Given the description of an element on the screen output the (x, y) to click on. 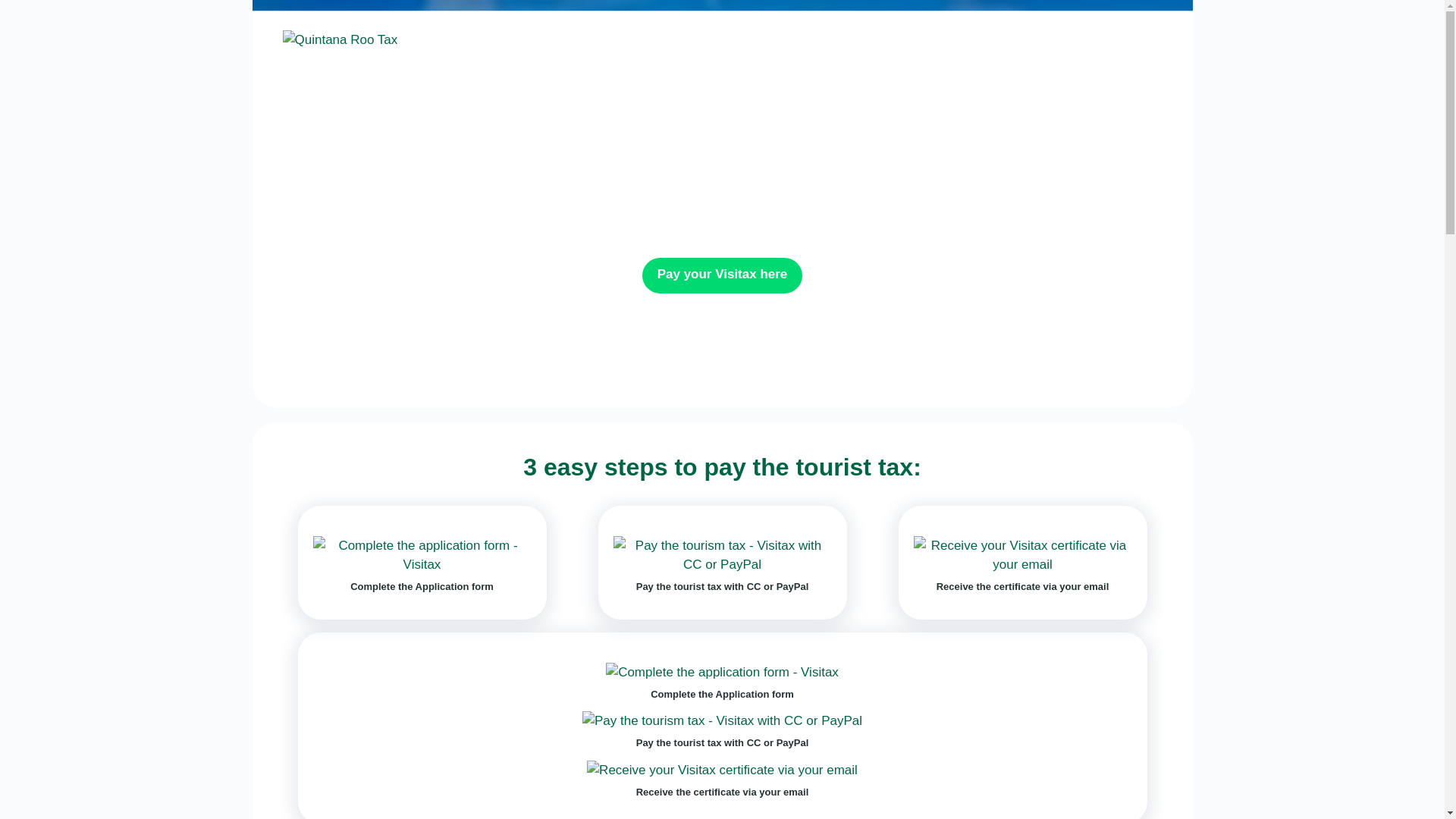
Visitax Application form (892, 37)
About Visitax (742, 37)
Quintana Roo Tax (339, 39)
Contact (1121, 37)
Quintana Roo Tax (339, 38)
Pay your Visitax here (722, 275)
Tourist info (1031, 37)
